Given the description of an element on the screen output the (x, y) to click on. 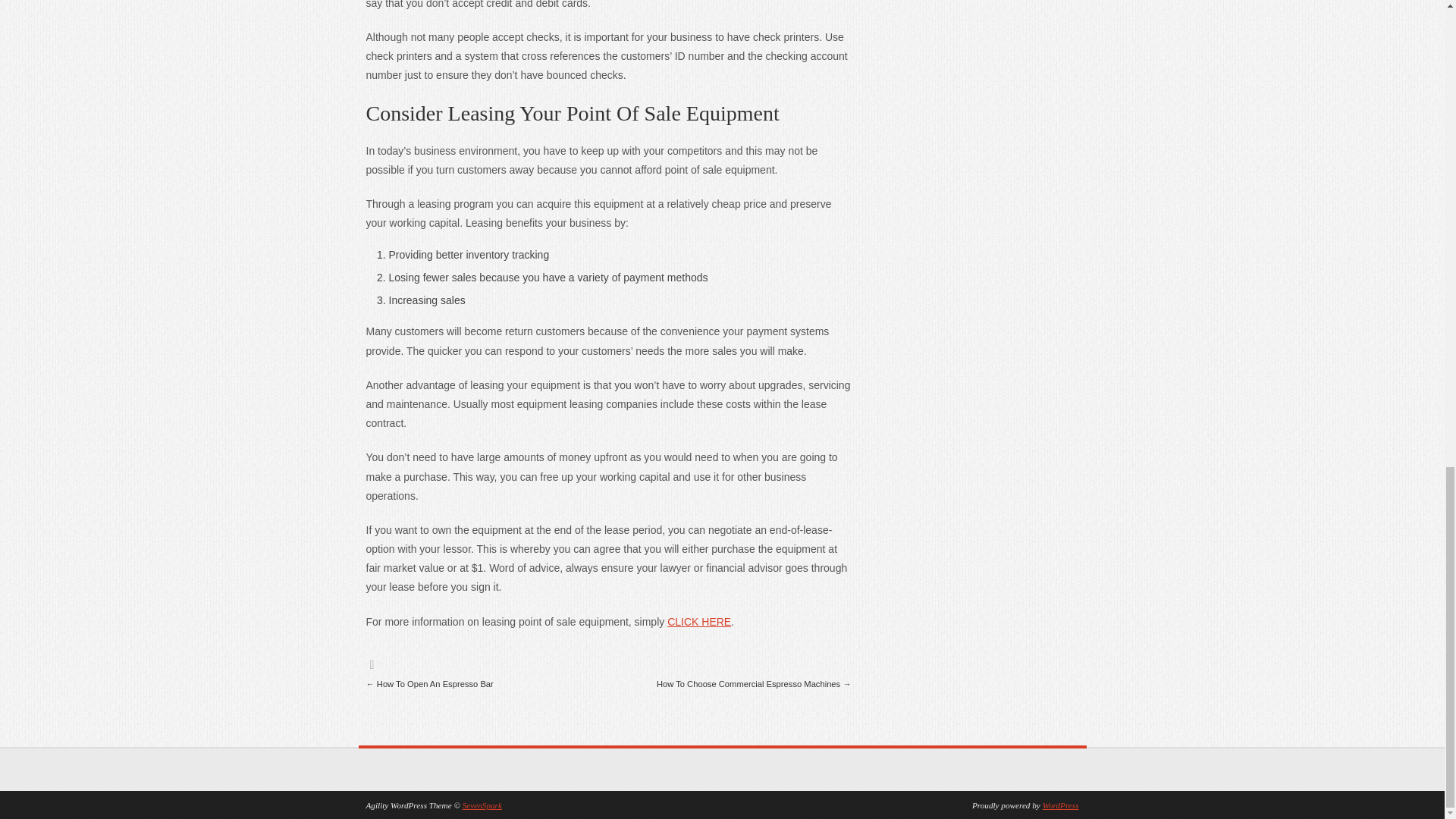
CLICK HERE (698, 621)
WordPress (1060, 804)
SevenSpark (482, 804)
